Given the description of an element on the screen output the (x, y) to click on. 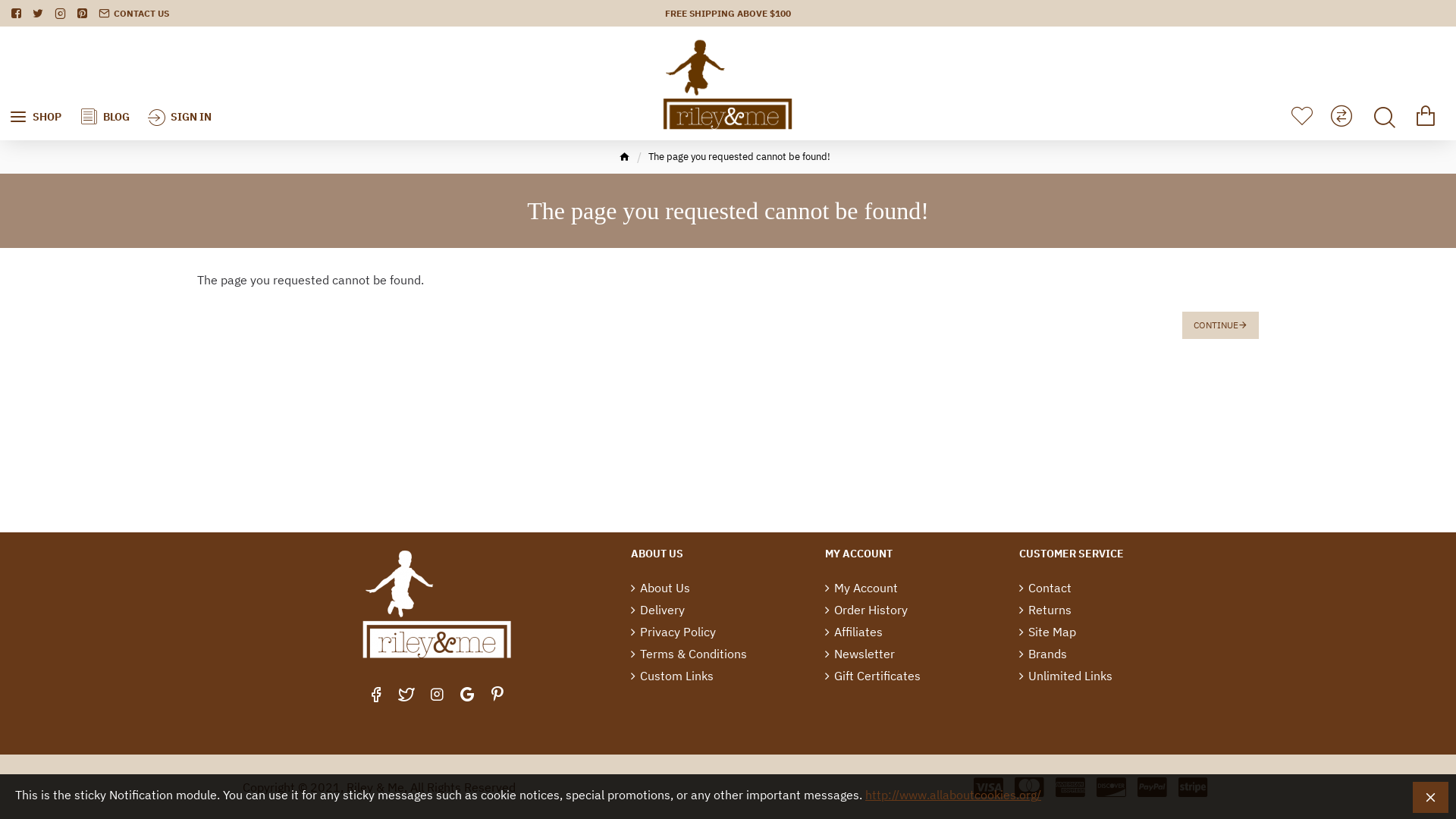
The page you requested cannot be found! Element type: text (738, 156)
Order History Element type: text (866, 611)
Returns Element type: text (1045, 611)
Affiliates Element type: text (853, 633)
Riley and Me Element type: hover (727, 83)
Newsletter Element type: text (859, 655)
Privacy Policy Element type: text (672, 633)
SIGN IN Element type: text (179, 82)
Delivery Element type: text (657, 611)
Unlimited Links Element type: text (1065, 677)
Site Map Element type: text (1047, 633)
FREE SHIPPING ABOVE $100 Element type: text (727, 13)
Gift Certificates Element type: text (872, 677)
Terms & Conditions Element type: text (688, 655)
Custom Links Element type: text (671, 677)
BLOG Element type: text (104, 82)
http://www.allaboutcookies.org/ Element type: text (953, 794)
CONTACT US Element type: text (133, 13)
Contact Element type: text (1045, 589)
My Account Element type: text (861, 589)
SHOP Element type: text (35, 82)
Brands Element type: text (1042, 655)
CONTINUE Element type: text (1220, 324)
About Us Element type: text (660, 589)
